Given the description of an element on the screen output the (x, y) to click on. 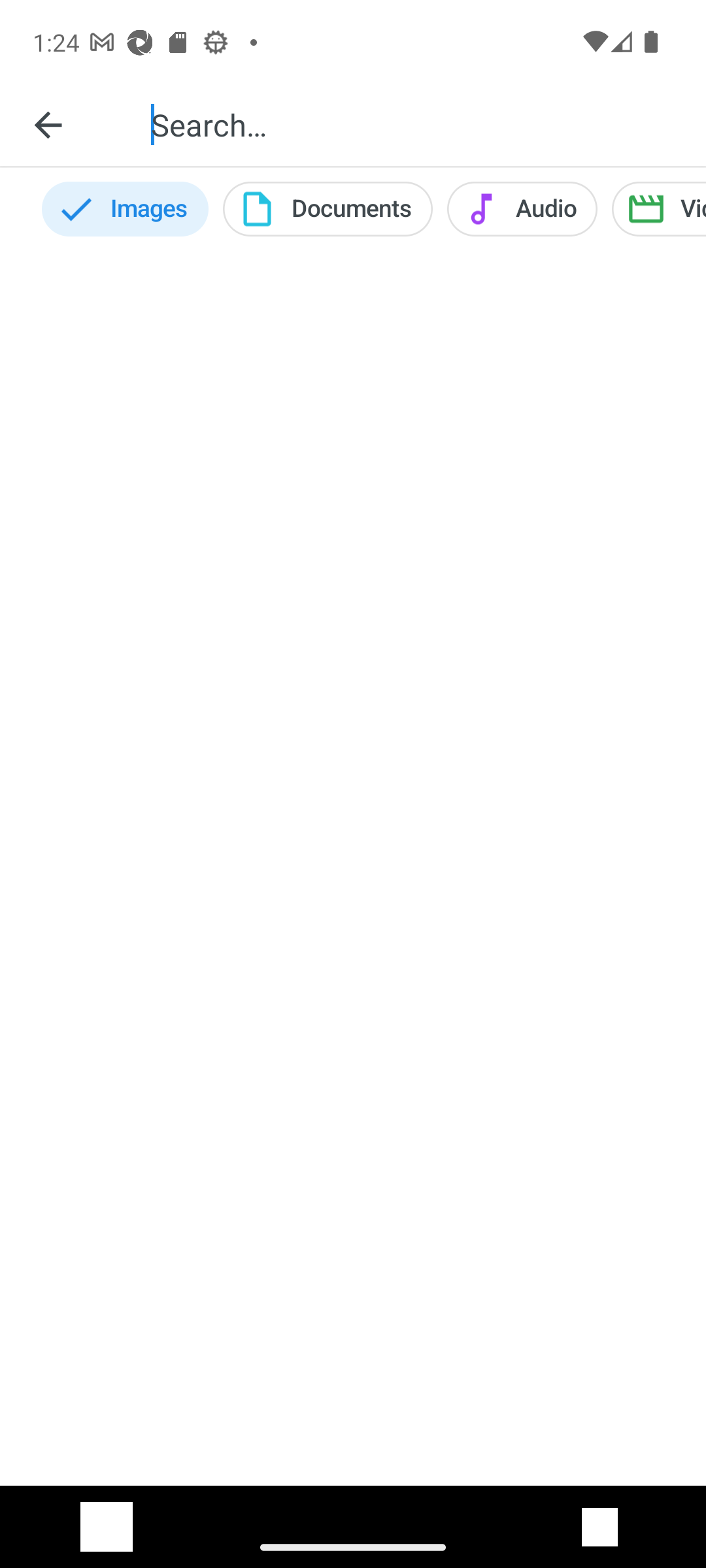
Back (48, 124)
Search… (414, 124)
Images (124, 208)
Documents (327, 208)
Audio (521, 208)
Videos (659, 208)
